Given the description of an element on the screen output the (x, y) to click on. 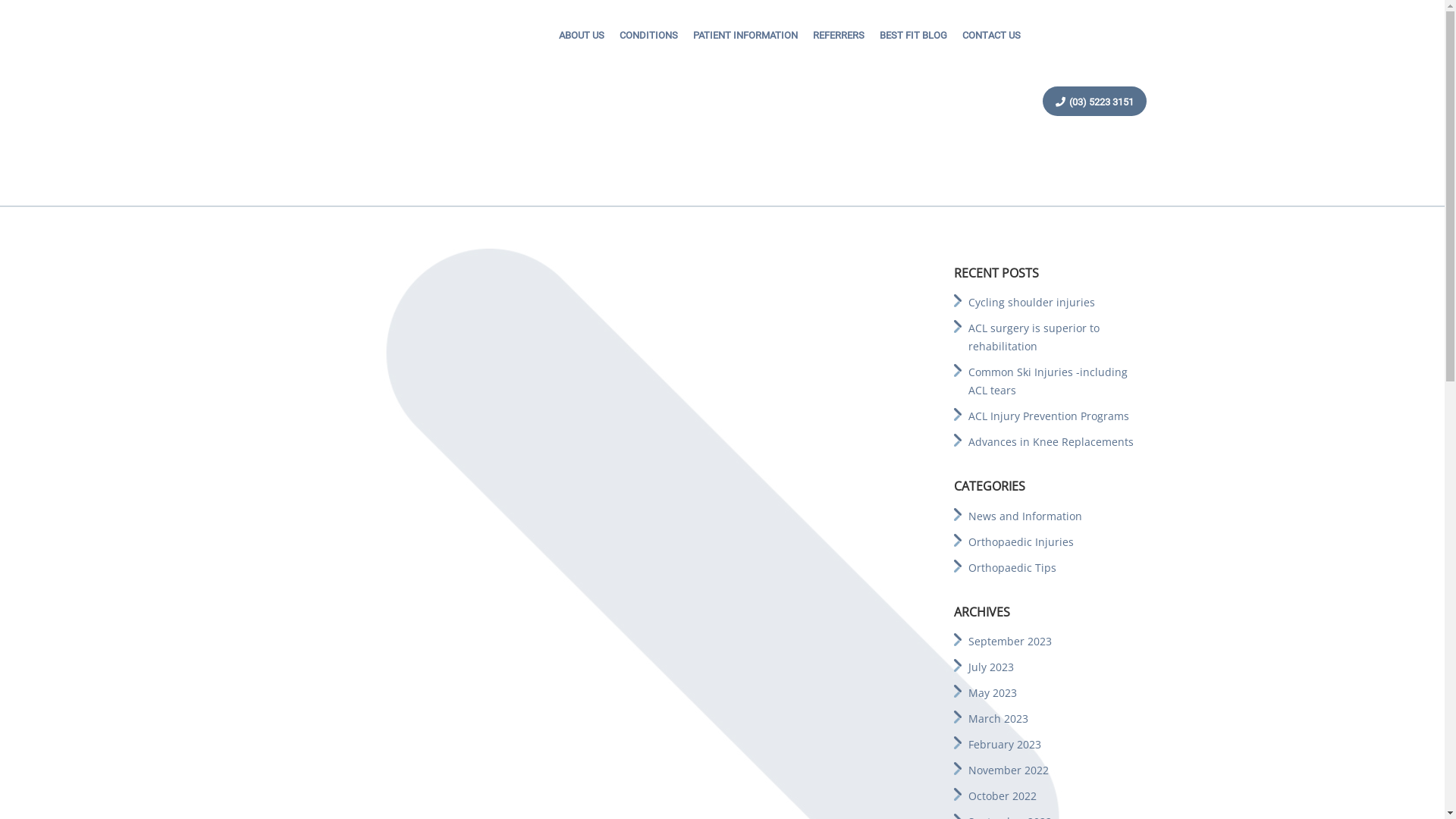
July 2023 Element type: text (990, 666)
BEST FIT BLOG Element type: text (913, 35)
CONTACT US Element type: text (991, 35)
Common Ski Injuries -including ACL tears Element type: text (1047, 380)
CONDITIONS Element type: text (648, 35)
ACL surgery is superior to rehabilitation Element type: text (1033, 336)
May 2023 Element type: text (992, 692)
ACL Injury Prevention Programs Element type: text (1048, 415)
Orthopaedic Injuries Element type: text (1020, 541)
September 2023 Element type: text (1009, 640)
February 2023 Element type: text (1004, 744)
ABOUT US Element type: text (581, 35)
Cycling shoulder injuries Element type: text (1031, 301)
March 2023 Element type: text (998, 718)
REFERRERS Element type: text (838, 35)
Orthopaedic Tips Element type: text (1012, 567)
October 2022 Element type: text (1002, 795)
Advances in Knee Replacements Element type: text (1050, 441)
(03) 5223 3151 Element type: text (1094, 101)
News and Information Element type: text (1025, 515)
PATIENT INFORMATION Element type: text (745, 35)
November 2022 Element type: text (1008, 769)
